Given the description of an element on the screen output the (x, y) to click on. 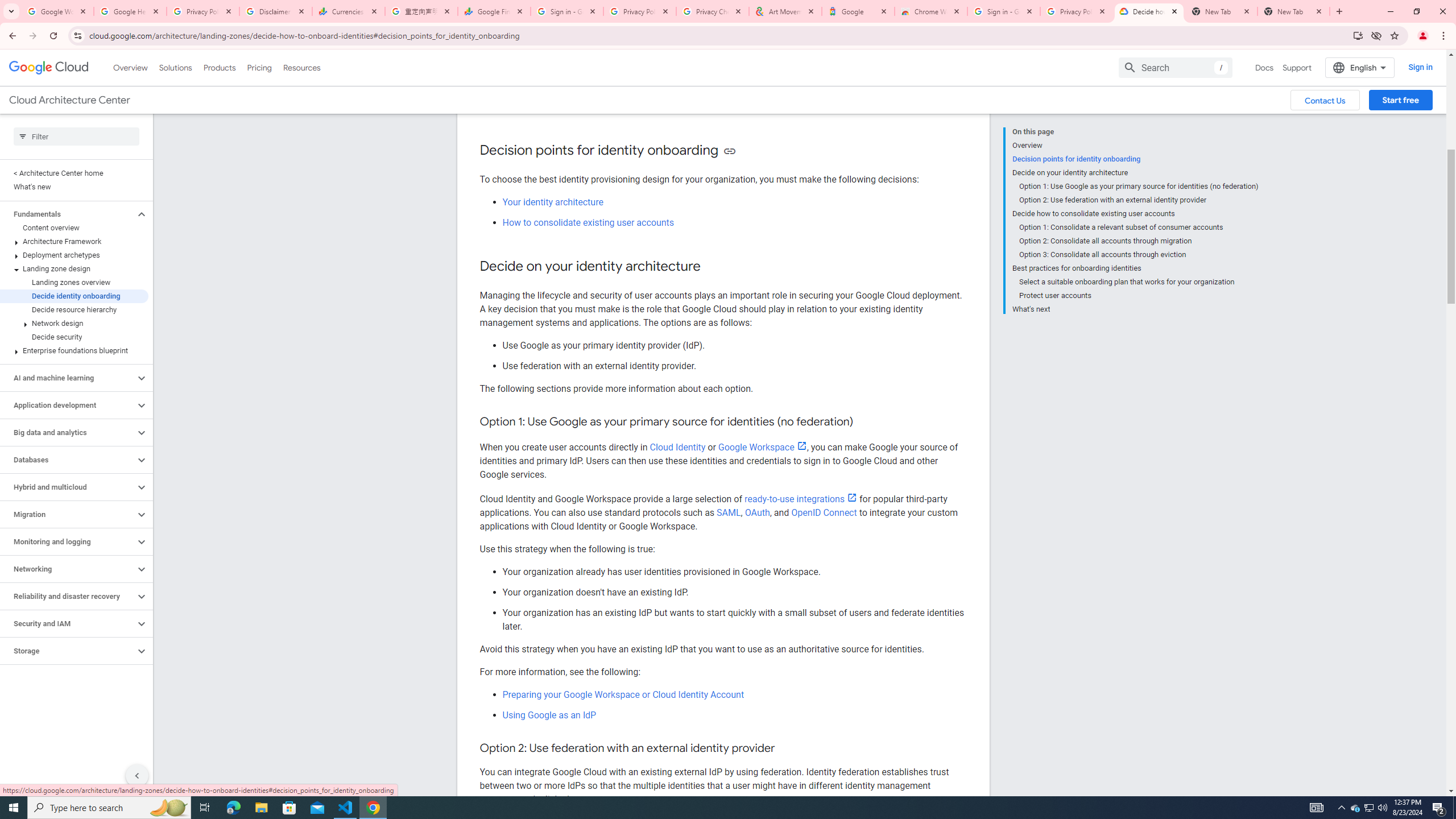
ready-to-use integrations (800, 498)
Cloud Identity (677, 447)
Storage (67, 650)
Currencies - Google Finance (348, 11)
Monitoring and logging (67, 541)
Best practices for onboarding identities (1134, 268)
Decide how to consolidate existing user accounts (1134, 213)
Databases (67, 459)
Decide security (74, 336)
OpenID Connect (823, 512)
